Given the description of an element on the screen output the (x, y) to click on. 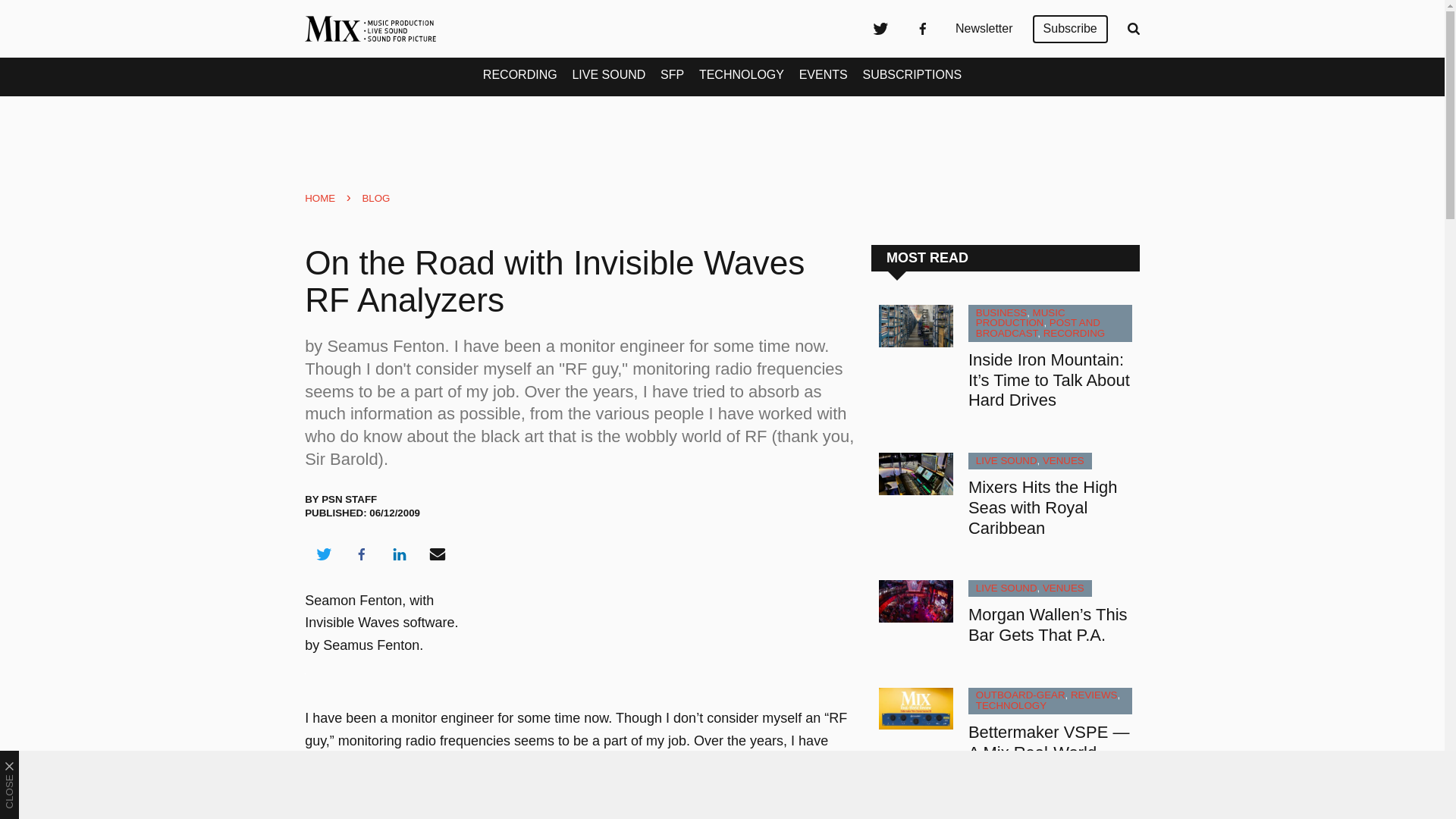
Share on Twitter (323, 554)
Share on Facebook (361, 554)
Share via Email (438, 554)
Share on LinkedIn (399, 554)
